Given the description of an element on the screen output the (x, y) to click on. 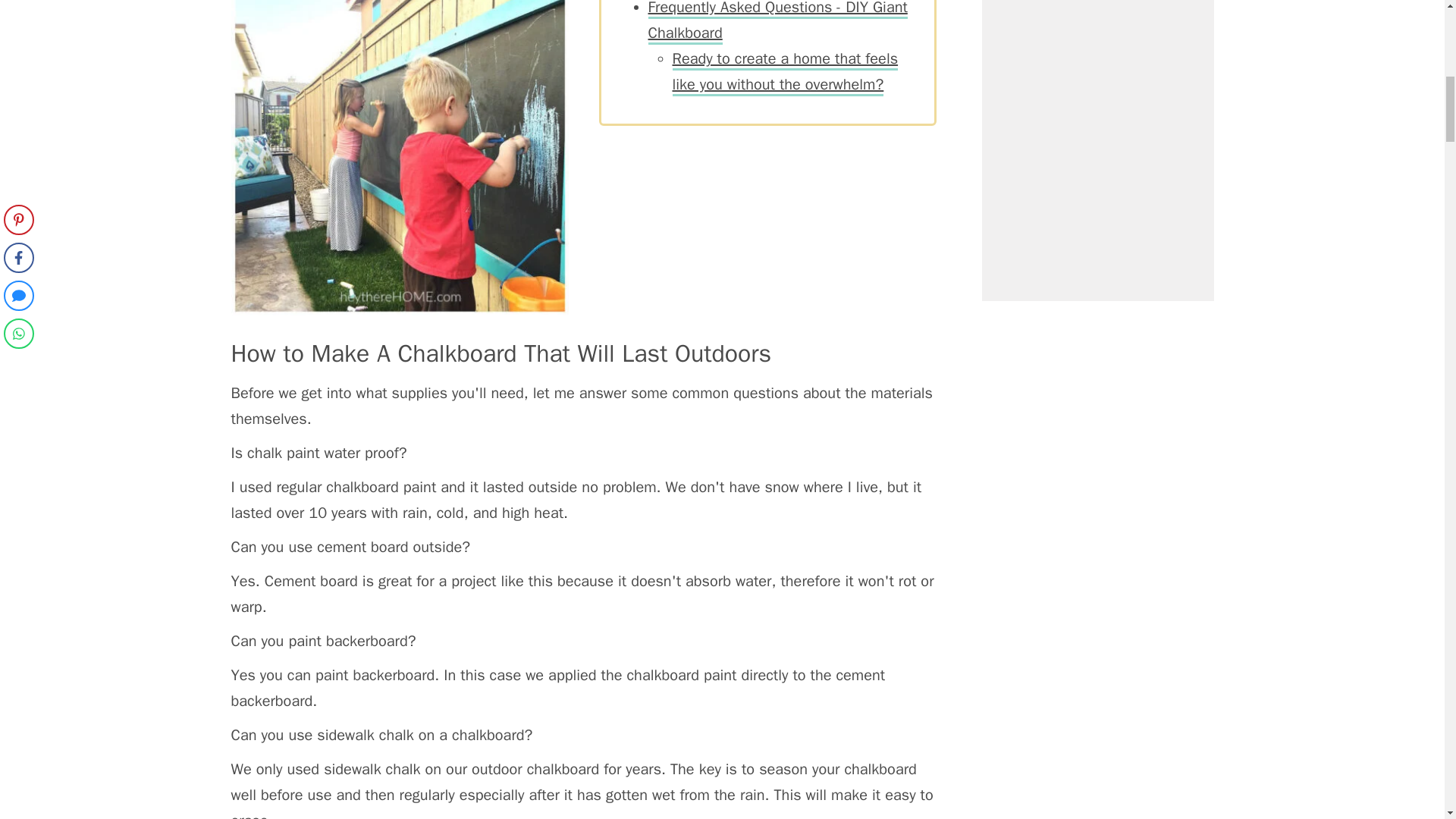
Frequently Asked Questions - DIY Giant Chalkboard (777, 22)
